Given the description of an element on the screen output the (x, y) to click on. 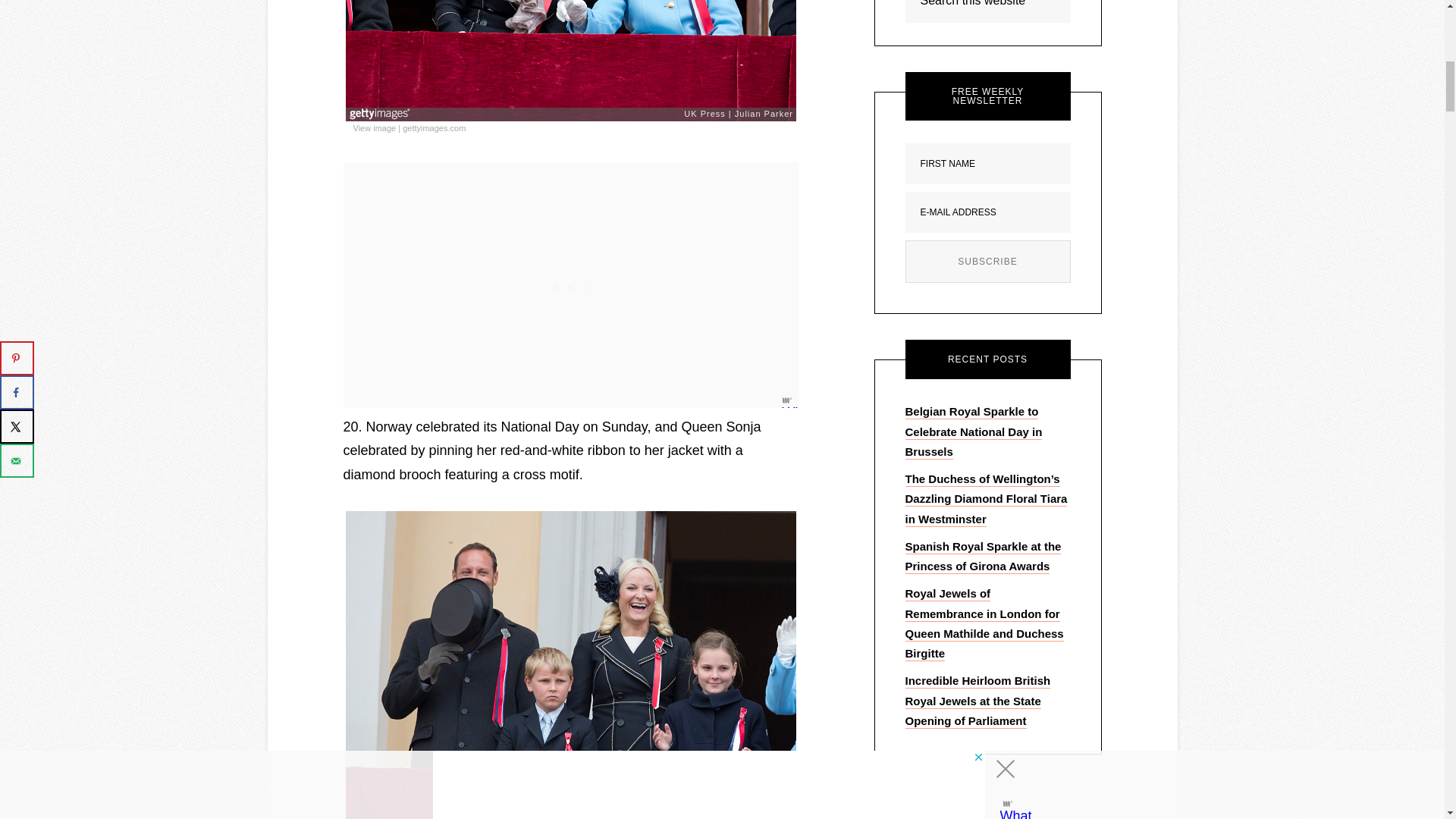
3rd party ad content (570, 284)
View image (374, 128)
Subscribe (987, 261)
gettyimages.com (434, 128)
